Given the description of an element on the screen output the (x, y) to click on. 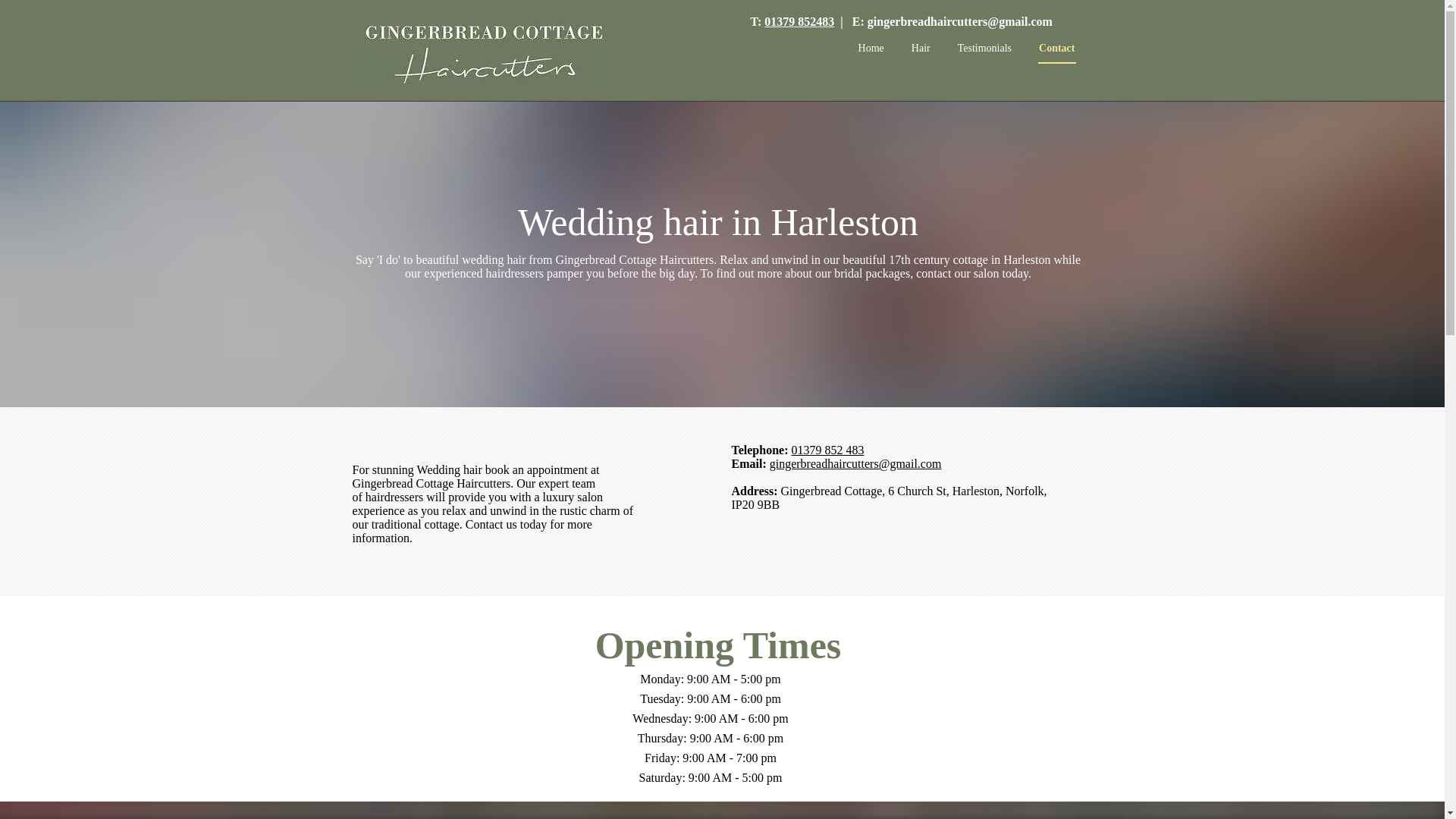
Contact (1056, 52)
01379 852483 (799, 21)
01379 852 483 (826, 449)
Home (871, 48)
Hair (921, 48)
Testimonials (983, 48)
